Given the description of an element on the screen output the (x, y) to click on. 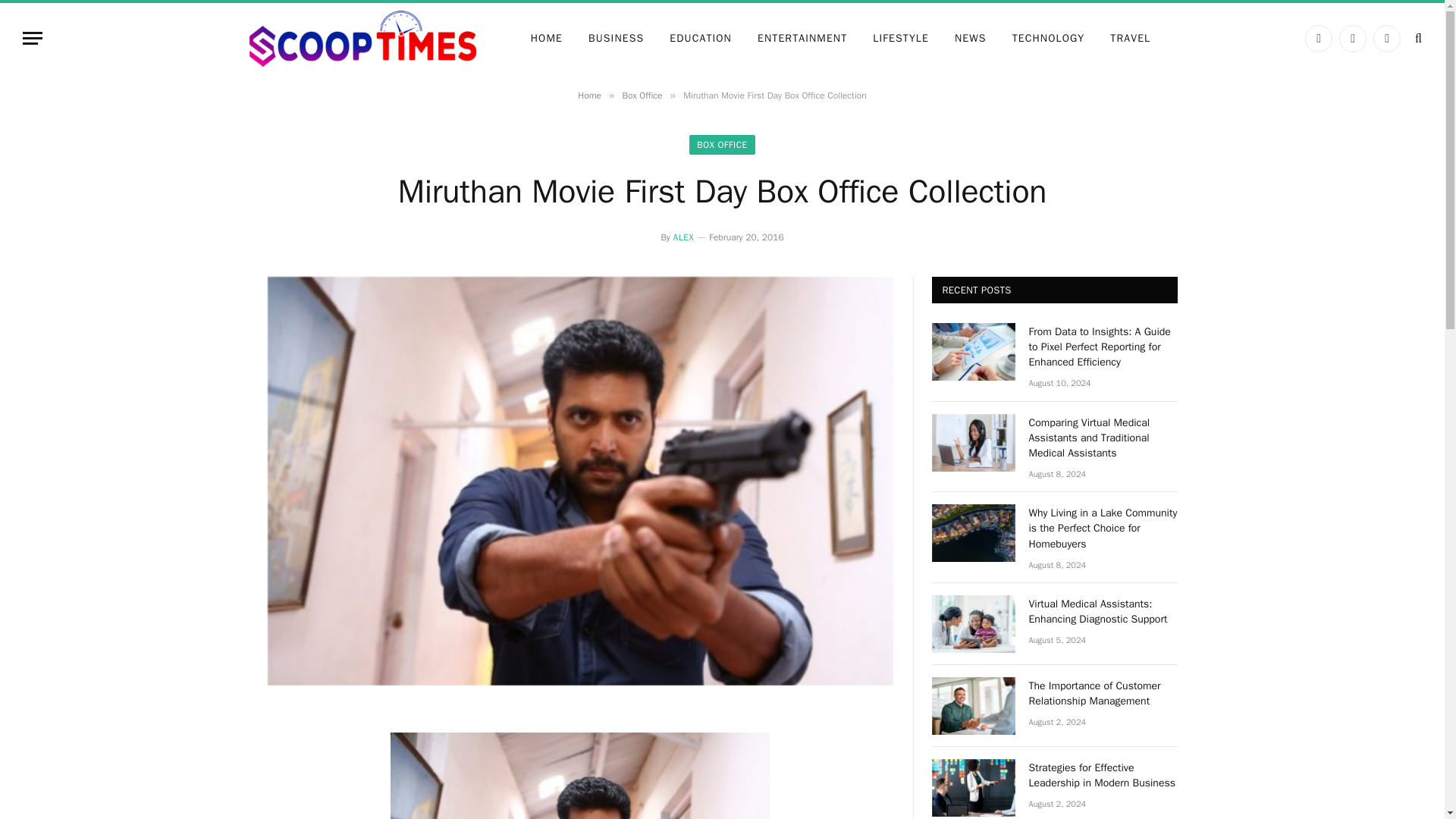
Scooptimes (361, 38)
EDUCATION (700, 38)
ALEX (683, 236)
Facebook (1318, 38)
Home (589, 95)
TECHNOLOGY (1047, 38)
Instagram (1386, 38)
Posts by Alex (683, 236)
BUSINESS (615, 38)
